Given the description of an element on the screen output the (x, y) to click on. 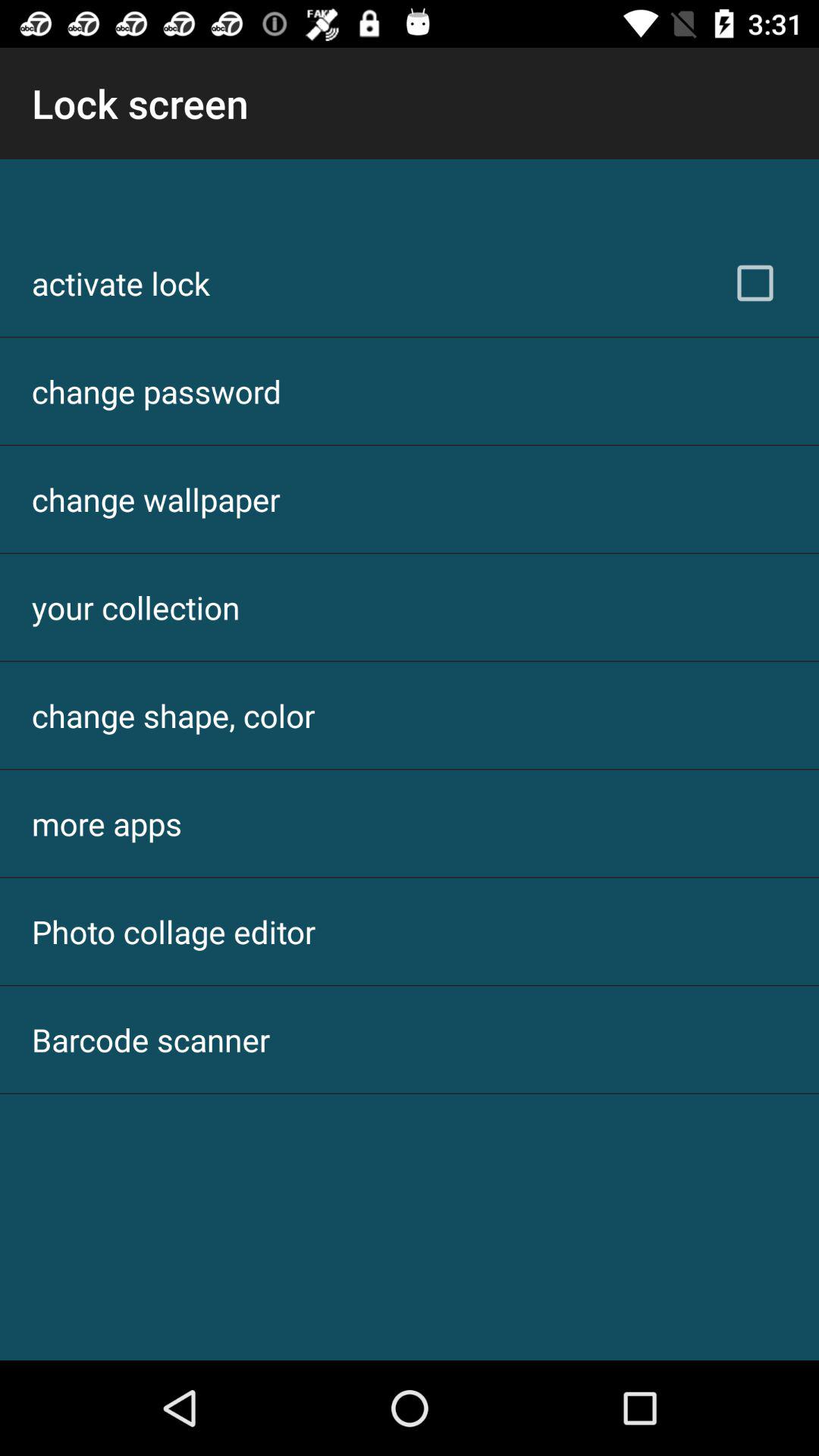
jump to your collection app (135, 607)
